Given the description of an element on the screen output the (x, y) to click on. 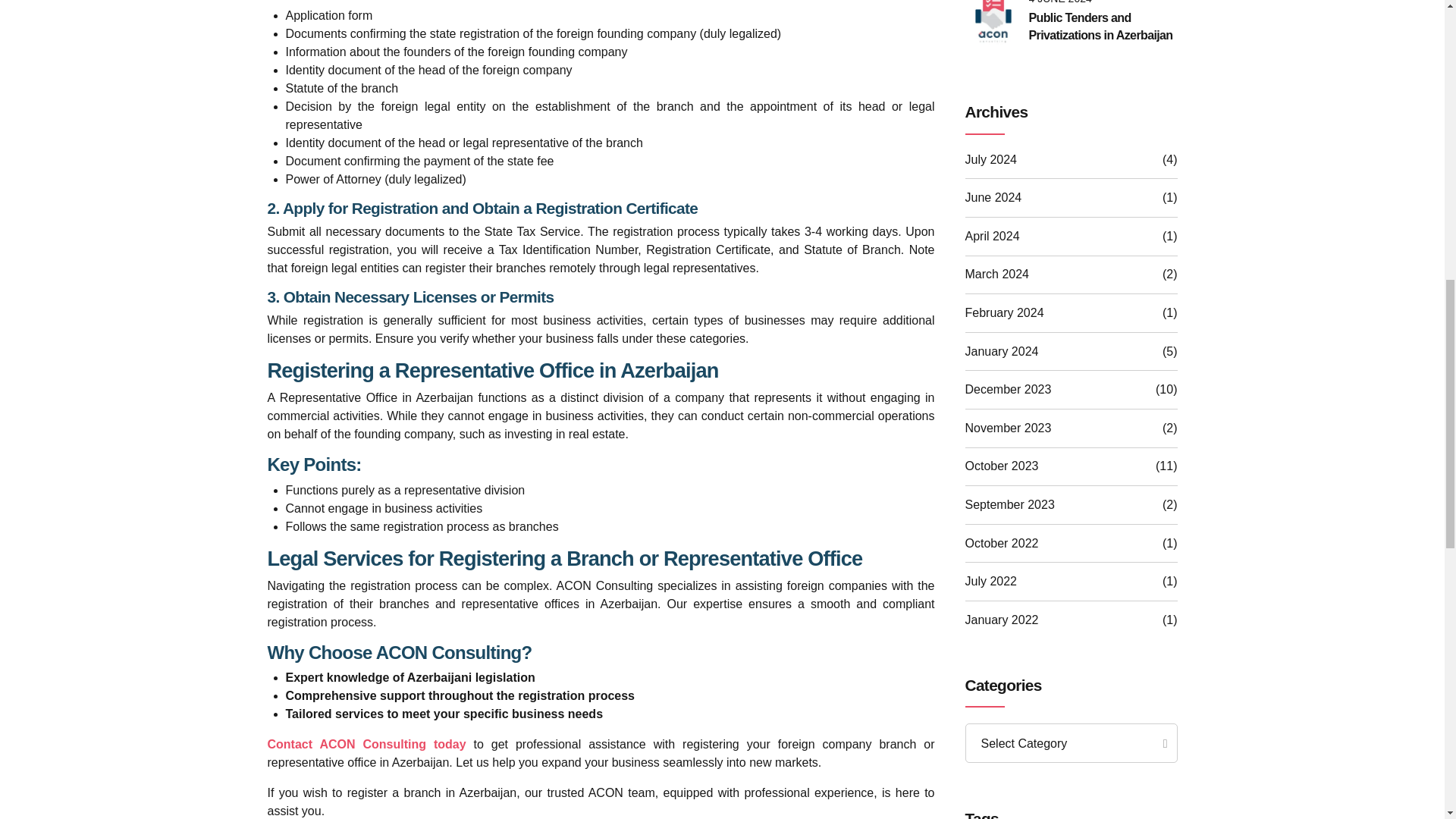
Public Tenders and Privatizations in Azerbaijan (1101, 26)
